Given the description of an element on the screen output the (x, y) to click on. 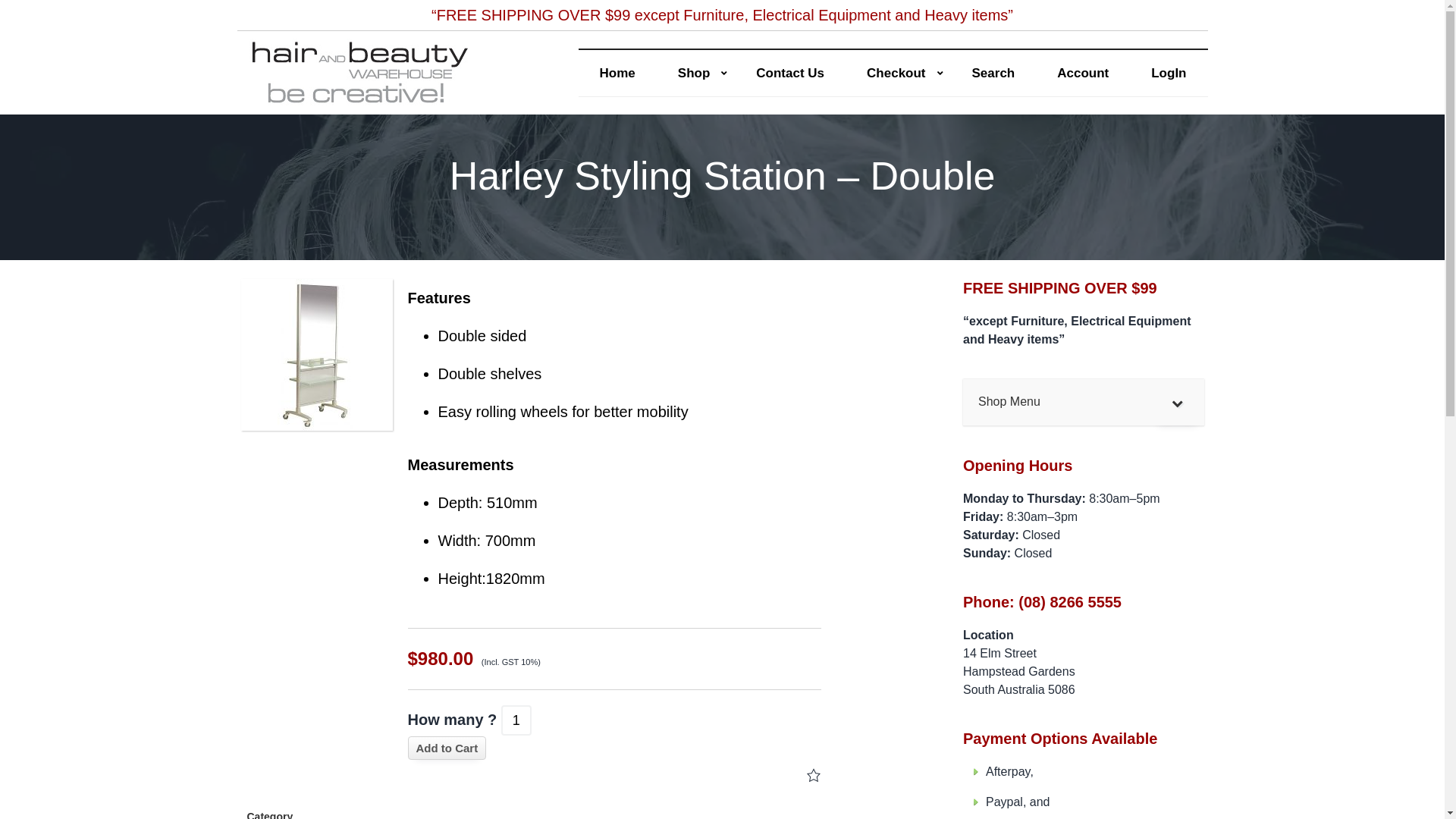
Add to Cart Element type: text (446, 747)
Add to favorite Element type: hover (813, 776)
Contact Us Element type: text (789, 73)
Home Element type: text (617, 73)
Shop Element type: text (695, 73)
Search Element type: text (993, 73)
Harley Styling Station - Double Element type: hover (316, 354)
Account Element type: text (1082, 73)
Shop Menu Element type: text (1083, 402)
LogIn Element type: text (1168, 73)
Hair and Beauty Warehouse Element type: text (321, 113)
Checkout Element type: text (897, 73)
Skip to primary navigation Element type: text (0, 0)
